Given the description of an element on the screen output the (x, y) to click on. 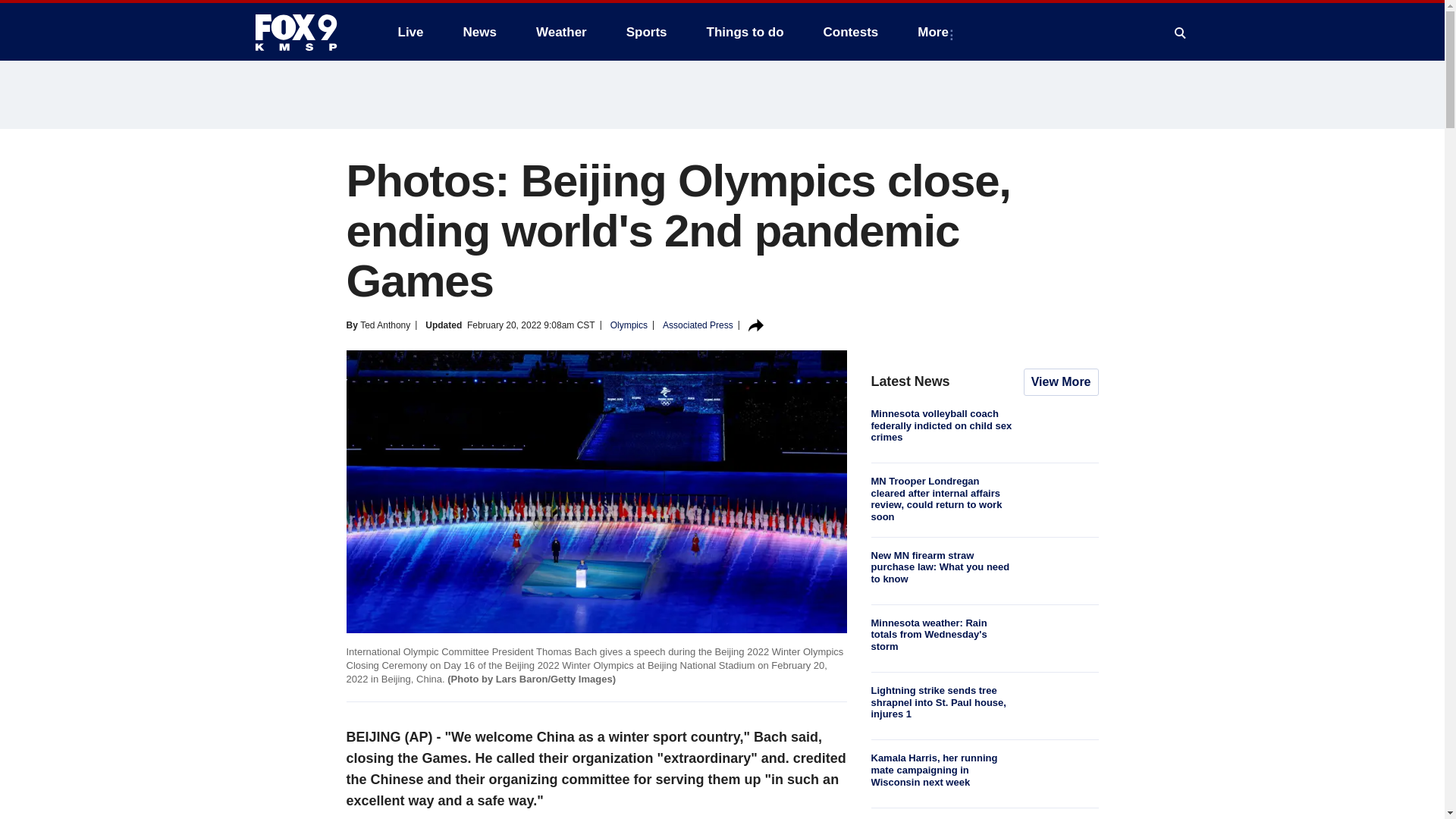
Things to do (745, 32)
Sports (646, 32)
News (479, 32)
Contests (850, 32)
Weather (561, 32)
More (935, 32)
Live (410, 32)
